Given the description of an element on the screen output the (x, y) to click on. 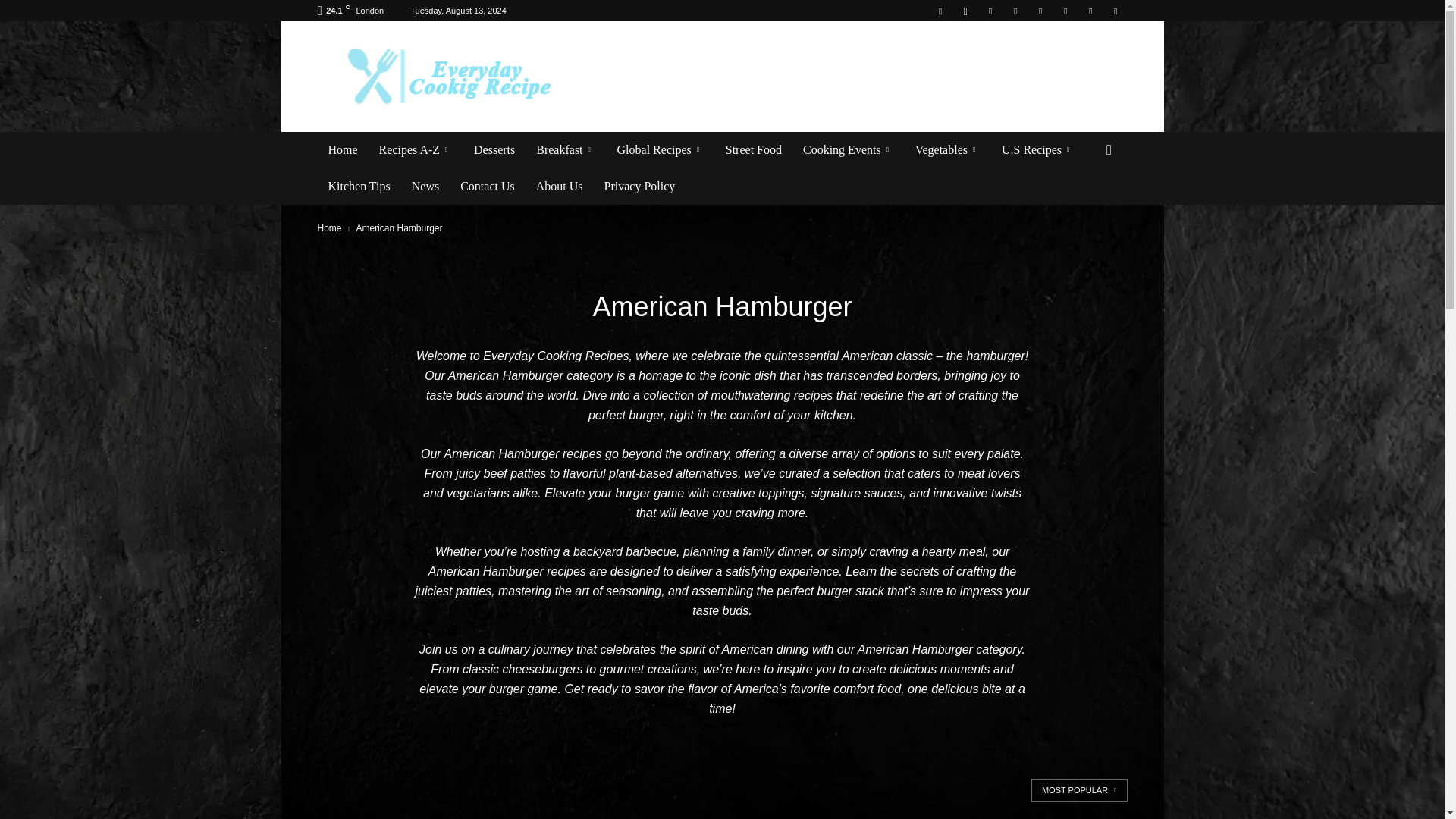
Facebook (940, 10)
Twitter (1090, 10)
Pinterest (1015, 10)
Instagram (964, 10)
Reddit (1040, 10)
TikTok (1065, 10)
Linkedin (989, 10)
